Given the description of an element on the screen output the (x, y) to click on. 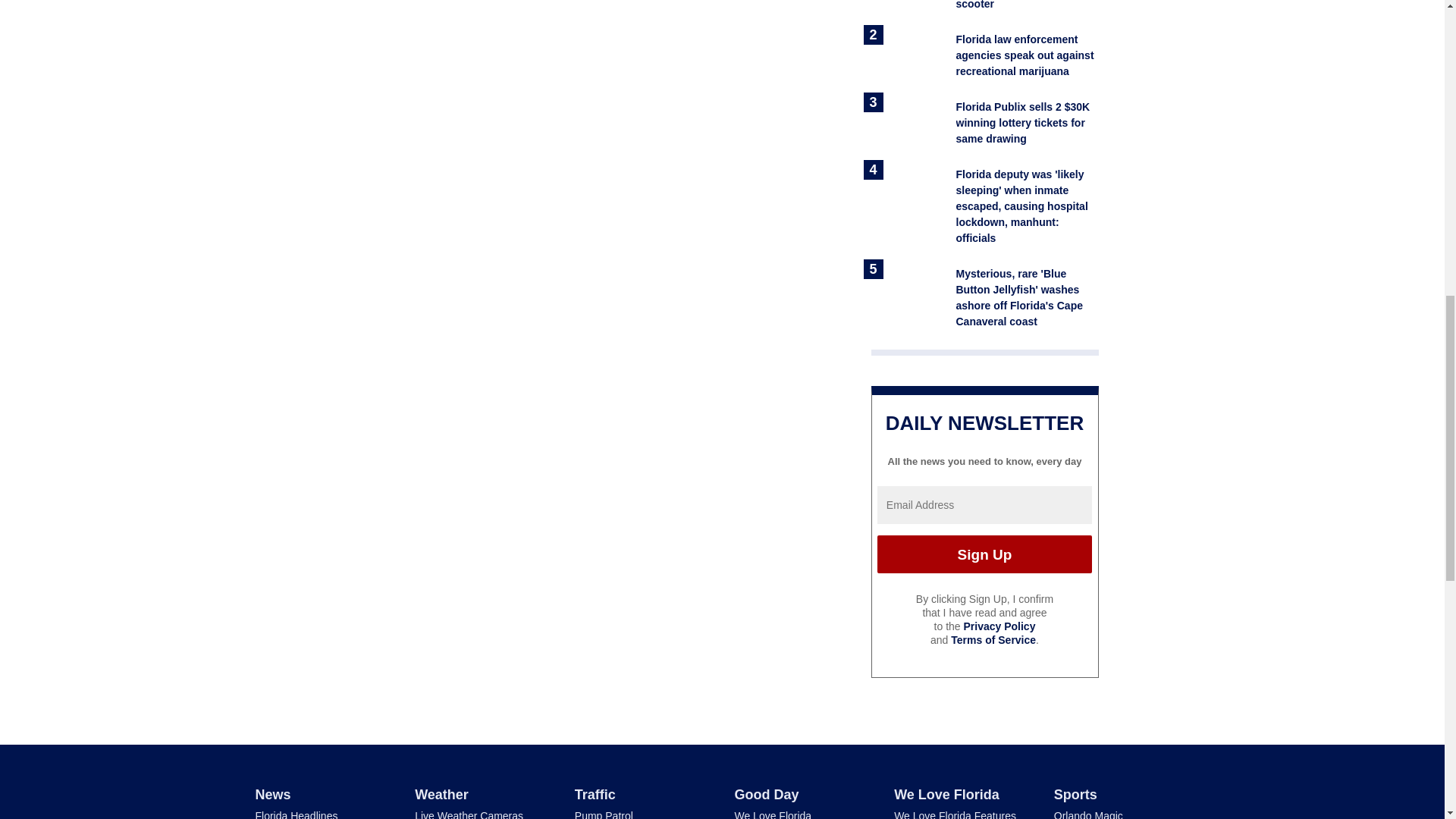
Sign Up (984, 554)
